Given the description of an element on the screen output the (x, y) to click on. 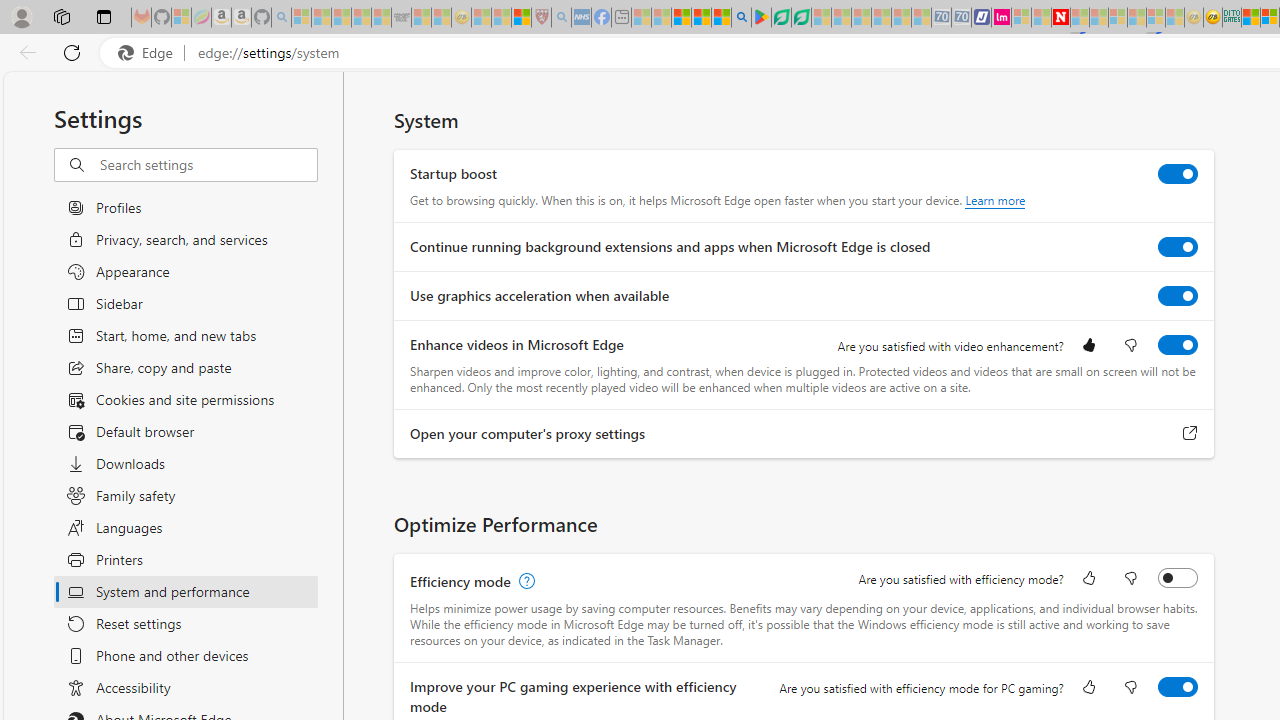
Improve your PC gaming experience with efficiency mode (1178, 686)
Combat Siege (400, 17)
The Weather Channel - MSN - Sleeping (340, 17)
Microsoft Word - consumer-privacy address update 2.2021 (801, 17)
